Given the description of an element on the screen output the (x, y) to click on. 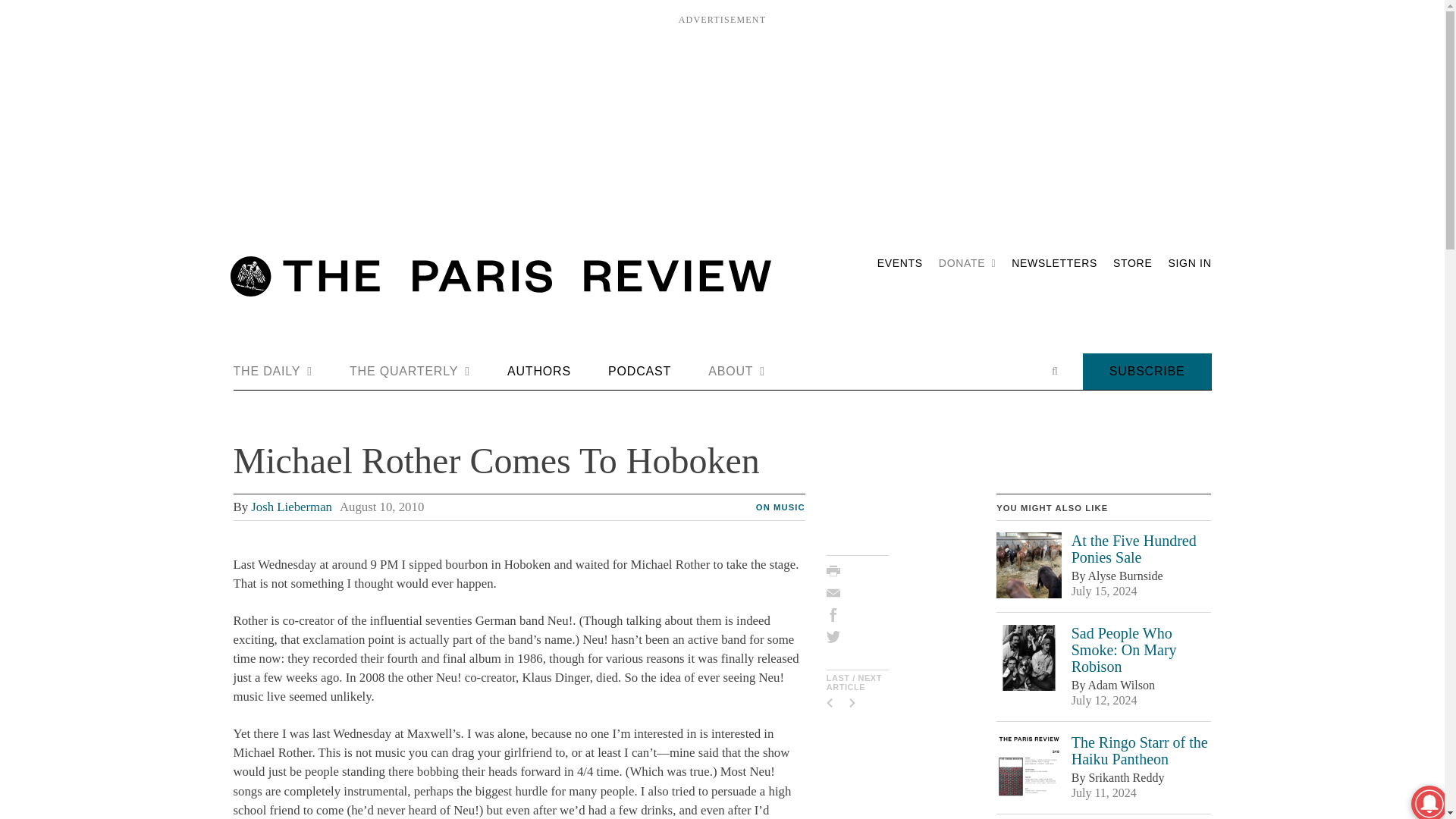
THE QUARTERLY (409, 371)
THE DAILY (272, 371)
Posts by Josh Lieberman (290, 507)
Open search (1054, 371)
